Given the description of an element on the screen output the (x, y) to click on. 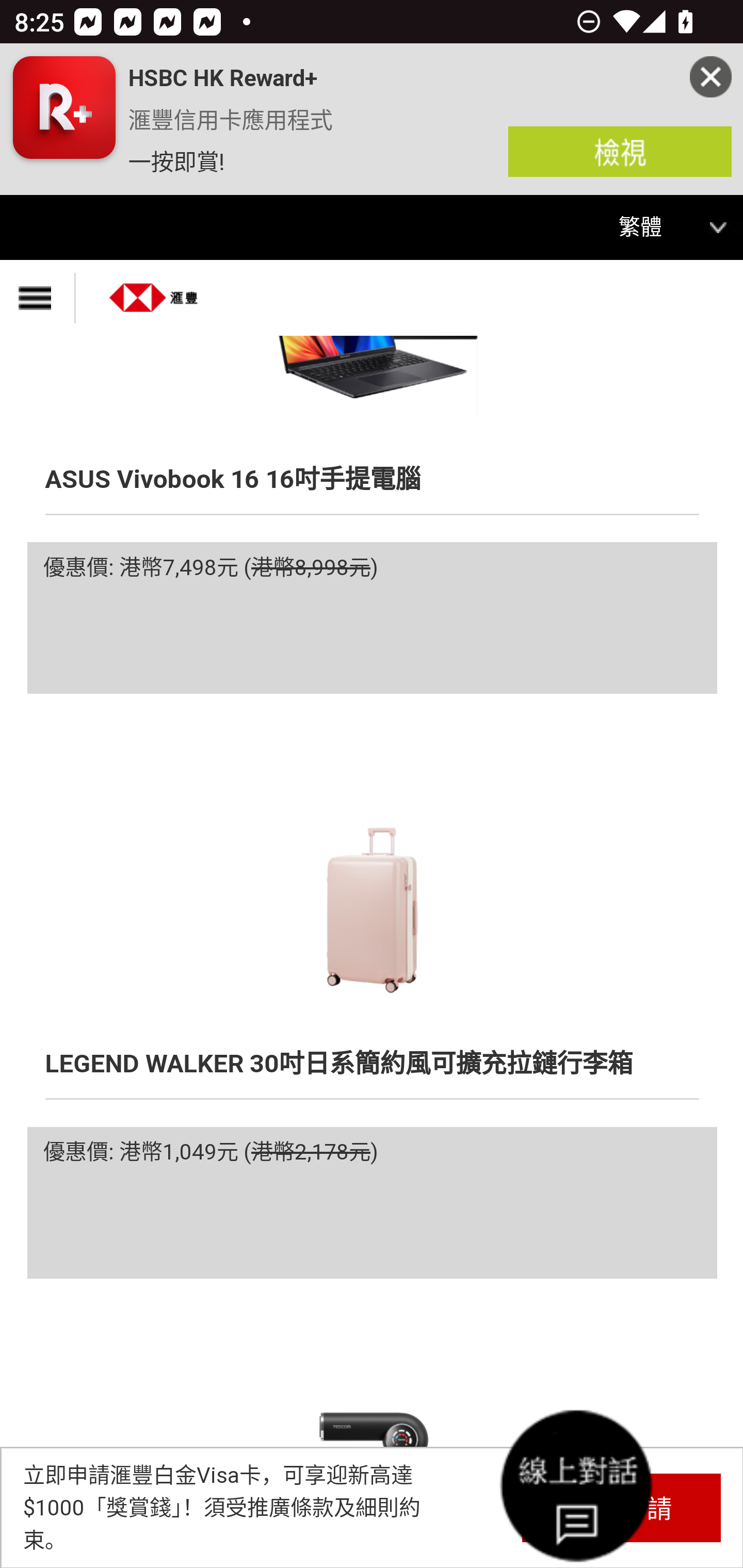
繁體 (653, 227)
HSBC (154, 291)
目錄 (37, 298)
立即申請 (621, 1507)
